Given the description of an element on the screen output the (x, y) to click on. 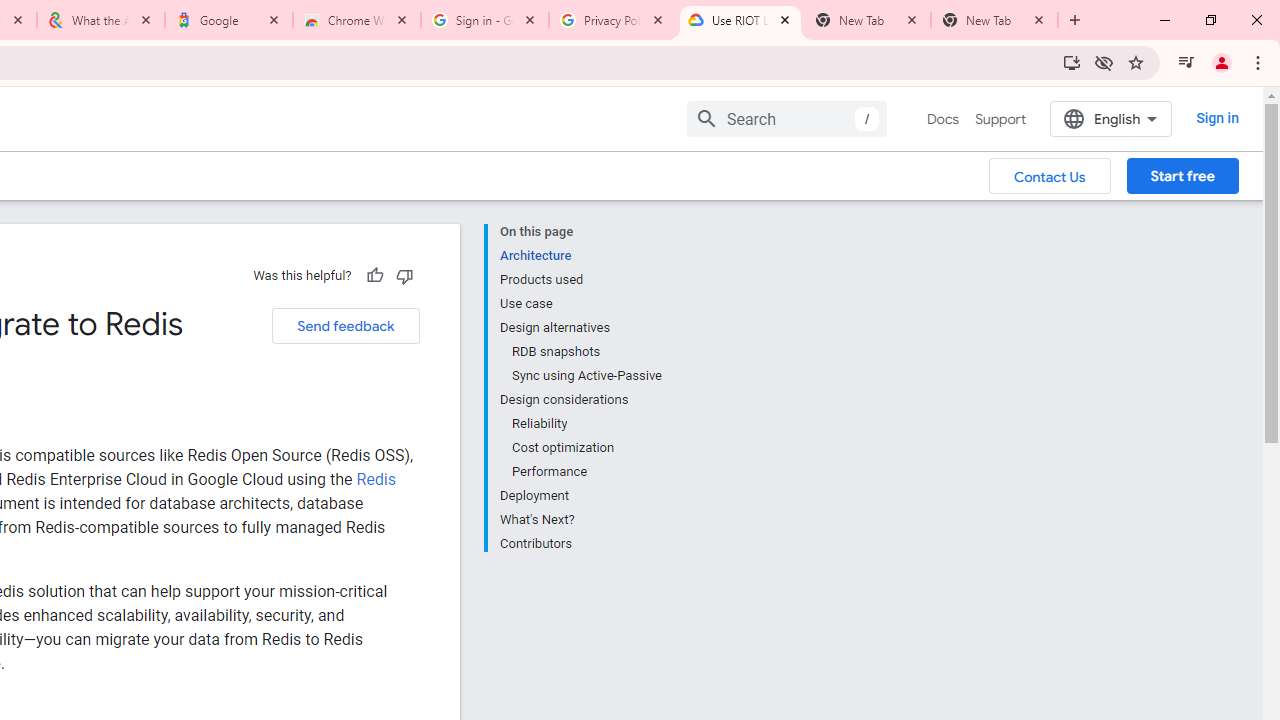
Design alternatives (580, 327)
Start free (1182, 175)
Design considerations (580, 399)
Google (229, 20)
Products used (580, 279)
Docs, selected (942, 119)
